Given the description of an element on the screen output the (x, y) to click on. 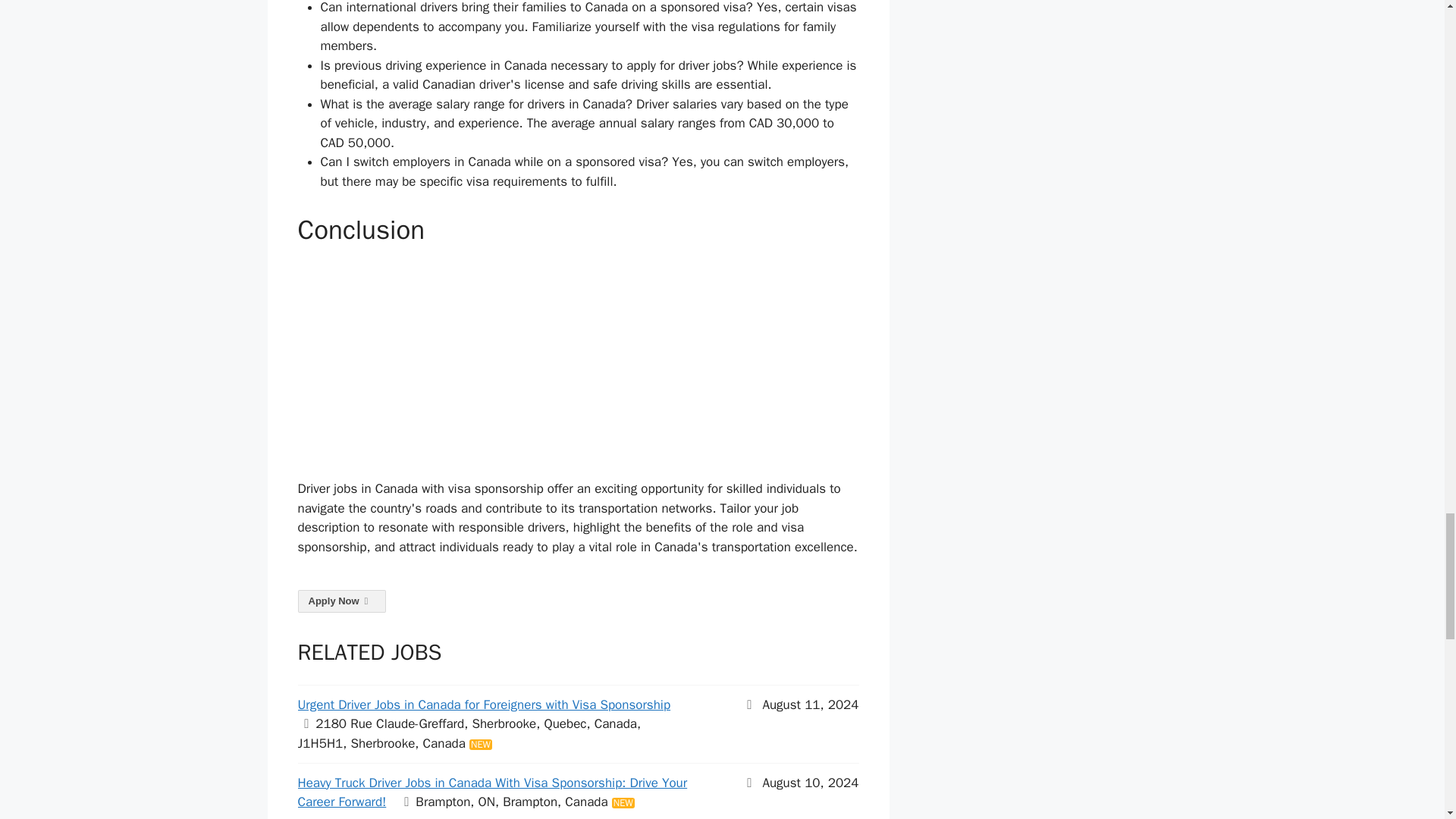
Apply Now  (341, 600)
